Given the description of an element on the screen output the (x, y) to click on. 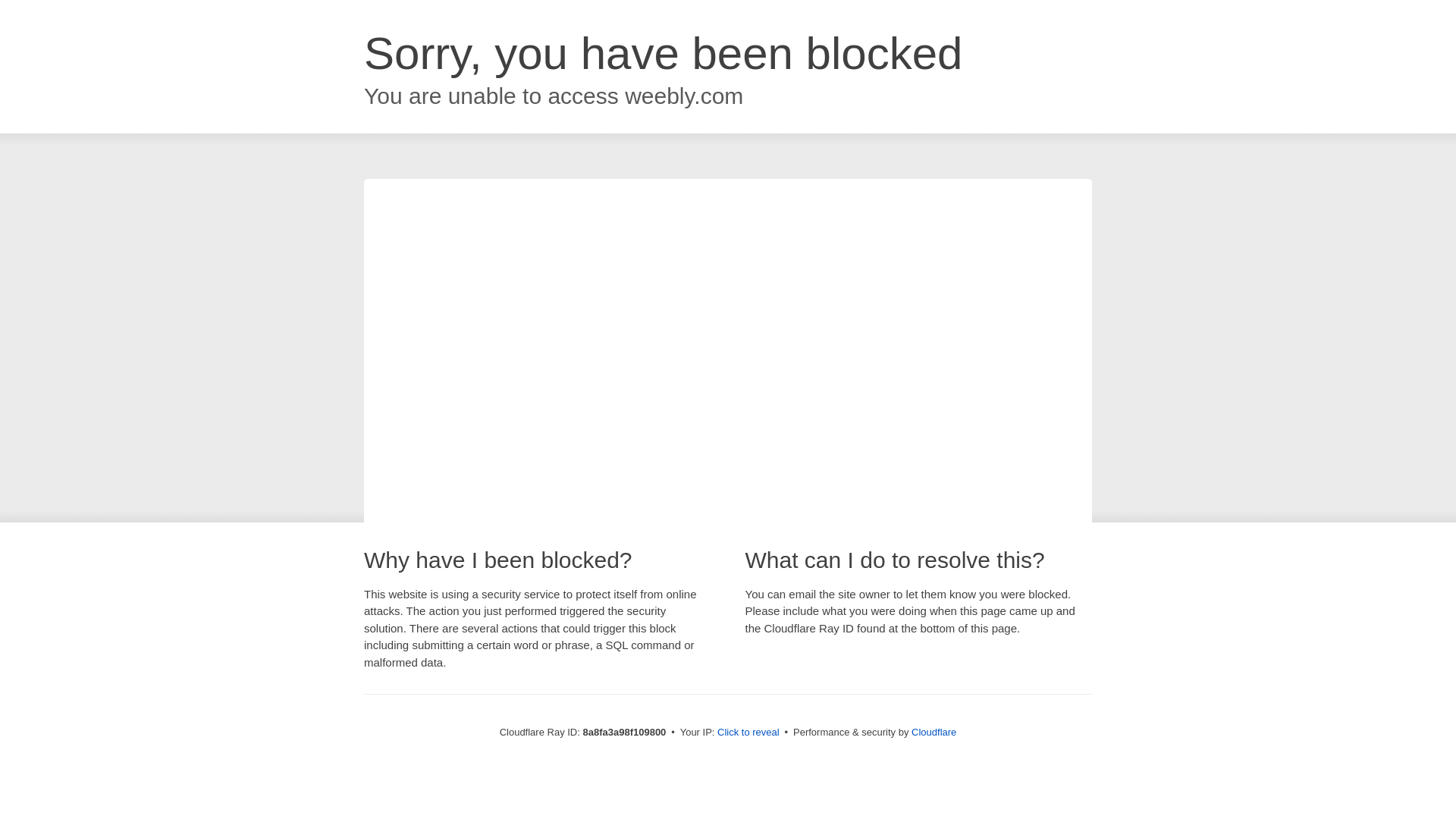
Click to reveal (747, 732)
Cloudflare (933, 731)
